Given the description of an element on the screen output the (x, y) to click on. 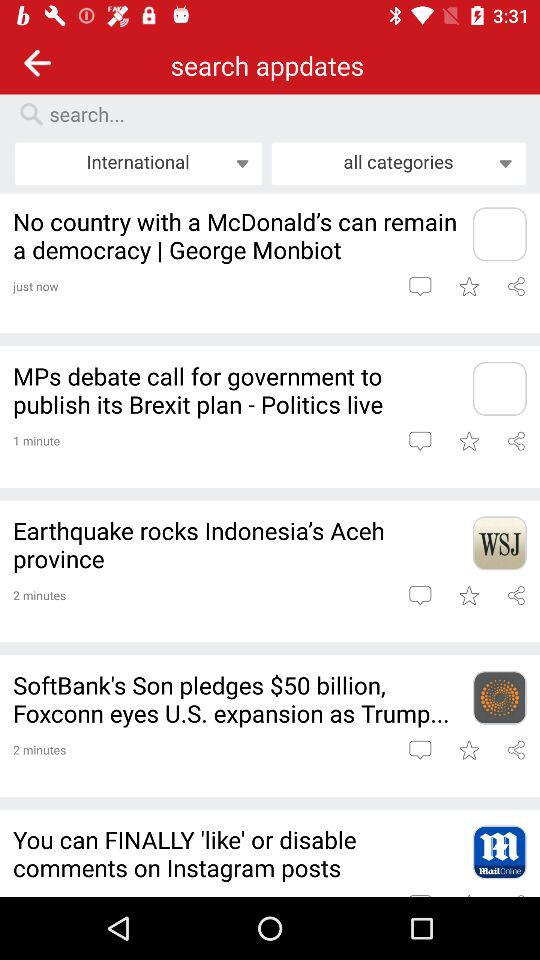
open the item to the right of international (398, 163)
